Given the description of an element on the screen output the (x, y) to click on. 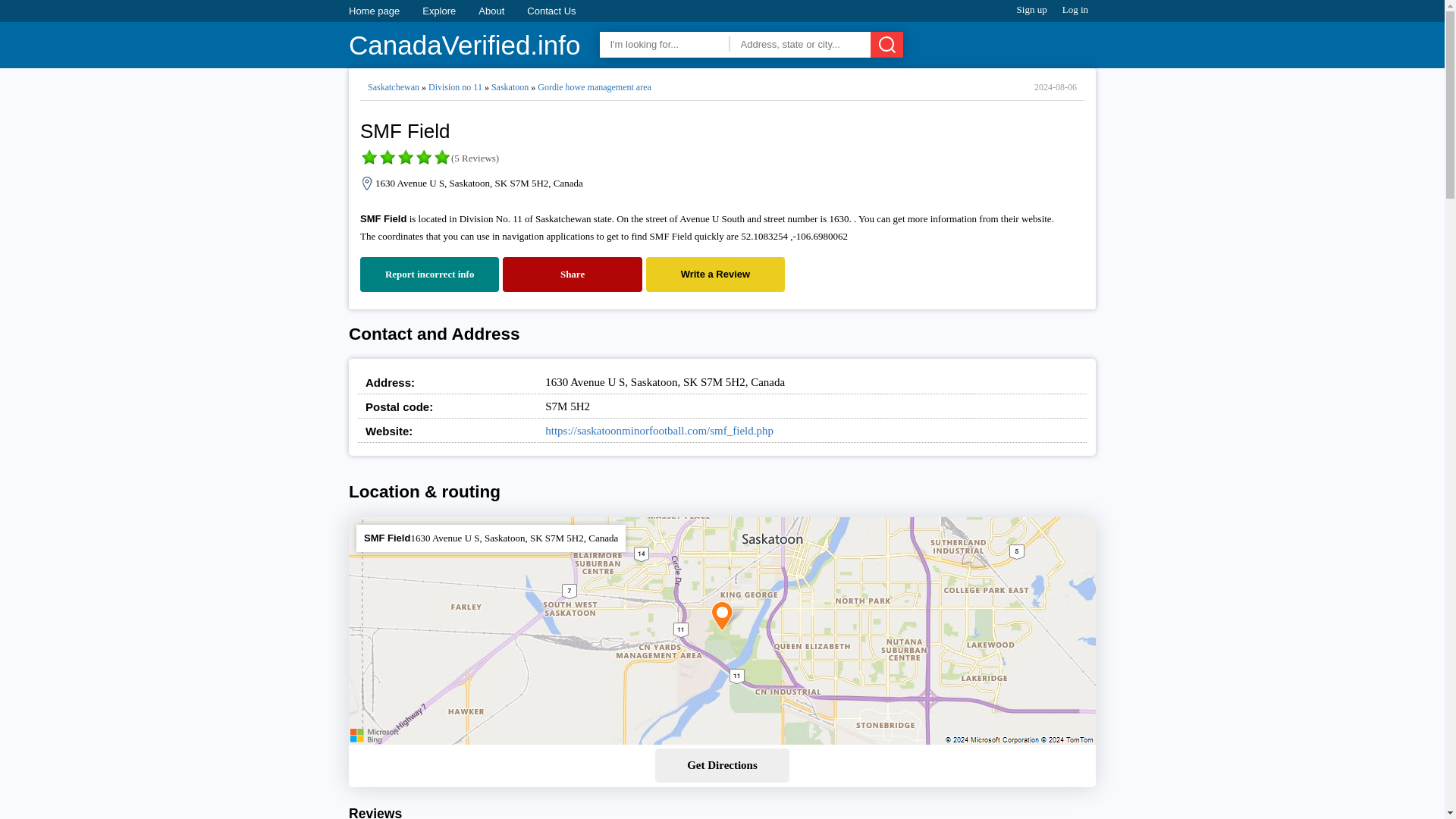
Saskatchewan (393, 86)
Saskatoon (510, 86)
About (491, 10)
Contact Us (551, 10)
Division no 11 (454, 86)
Explore (438, 10)
CanadaVerified.info (464, 46)
Gordie howe management area (593, 86)
Home page (373, 10)
Report incorrect info (429, 274)
